Given the description of an element on the screen output the (x, y) to click on. 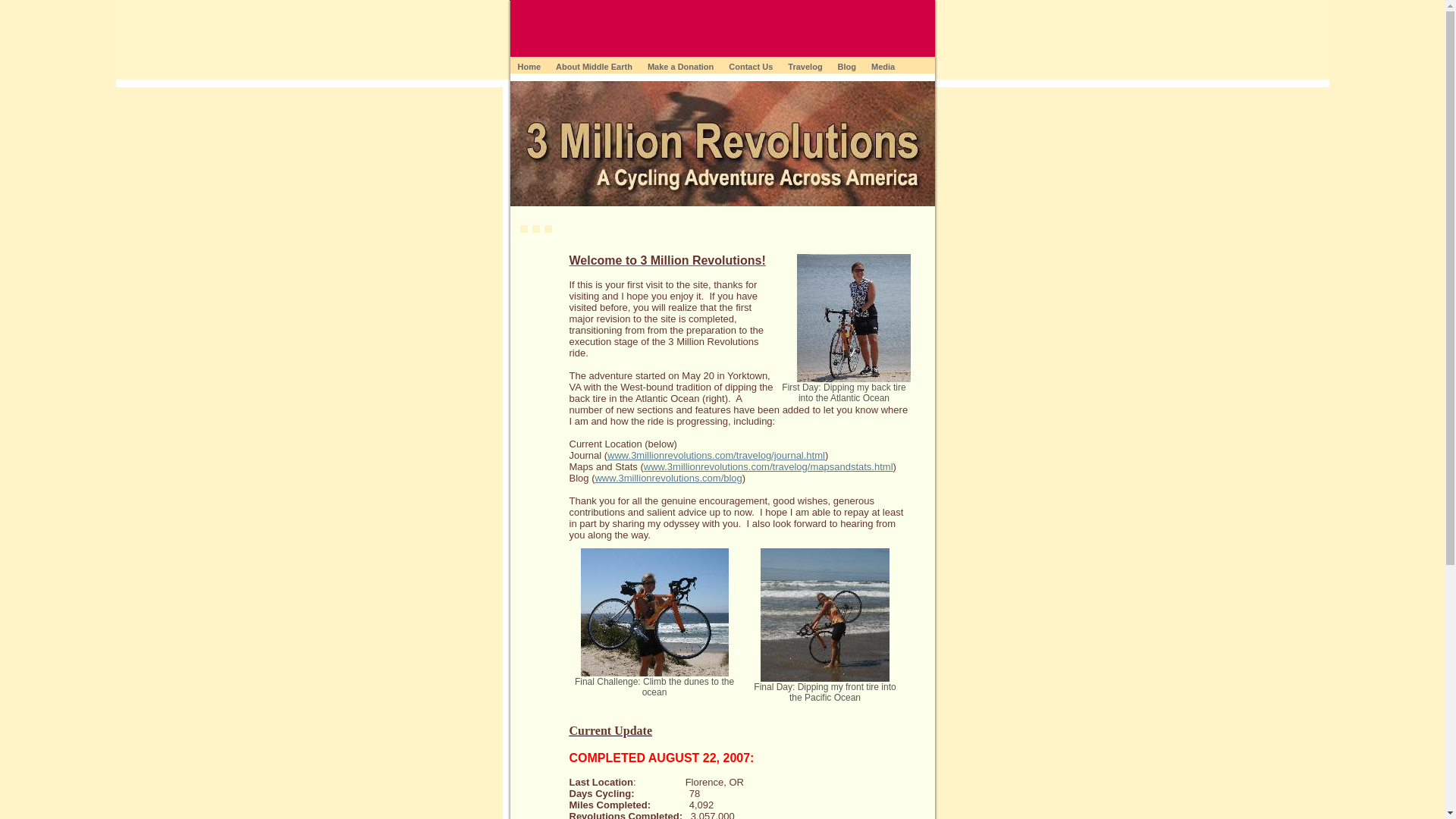
www.3millionrevolutions.com/travelog/journal.html Element type: text (716, 455)
Home Element type: text (528, 64)
Media Element type: text (882, 64)
Travelog Element type: text (804, 64)
Blog Element type: text (846, 64)
www.3millionrevolutions.com/blog Element type: text (667, 477)
Contact Us Element type: text (750, 64)
About Middle Earth Element type: text (594, 64)
www.3millionrevolutions.com/travelog/mapsandstats.html Element type: text (768, 466)
Make a Donation Element type: text (680, 64)
